Given the description of an element on the screen output the (x, y) to click on. 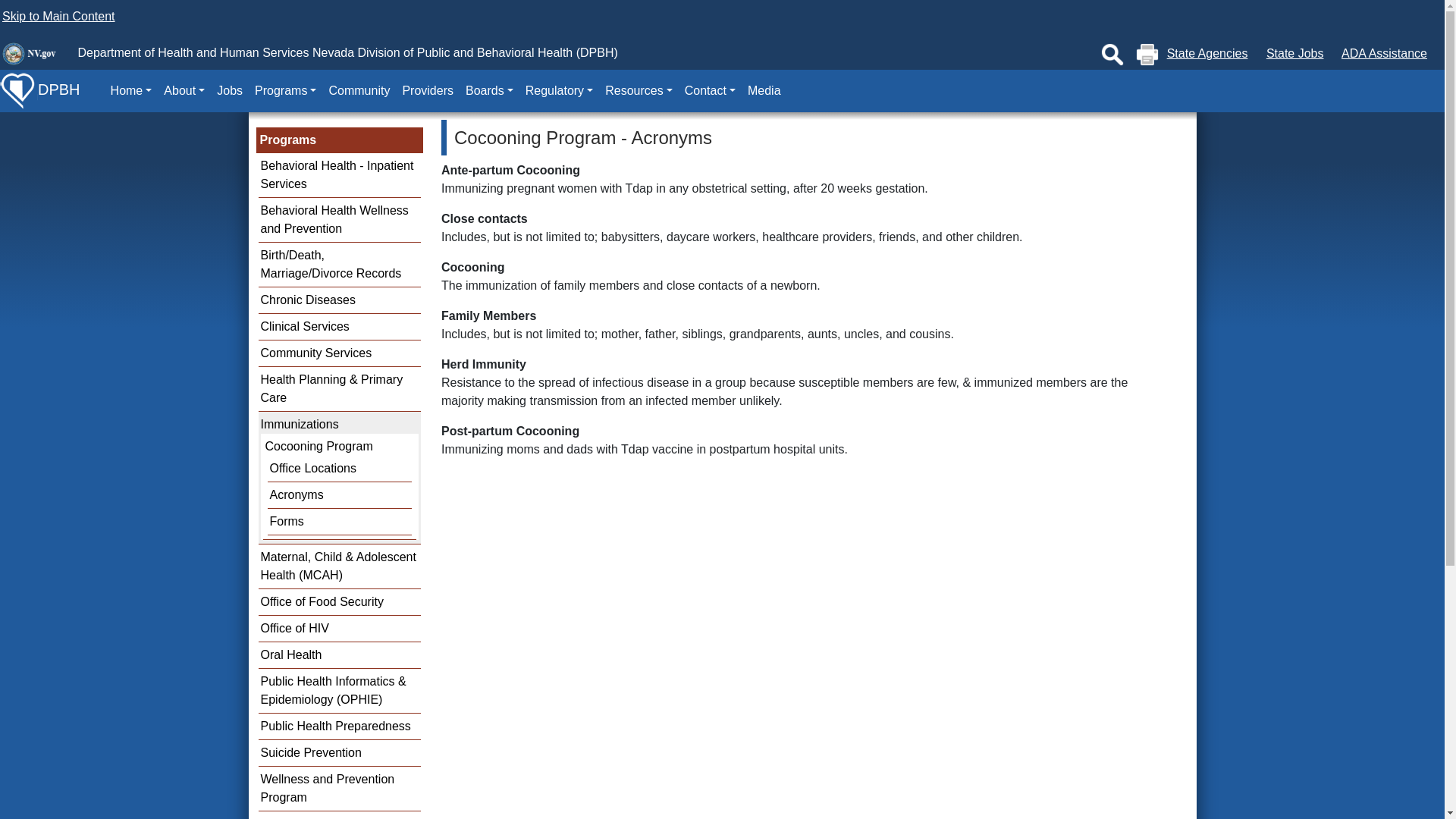
Home (131, 91)
Americans With Disabilities Act (1383, 52)
Jobs (229, 91)
About (184, 91)
DPBH (40, 90)
ADA Assistance (1383, 52)
Skip to Main Content (58, 15)
Search (1112, 54)
State Jobs (1294, 52)
Print (1147, 54)
